Given the description of an element on the screen output the (x, y) to click on. 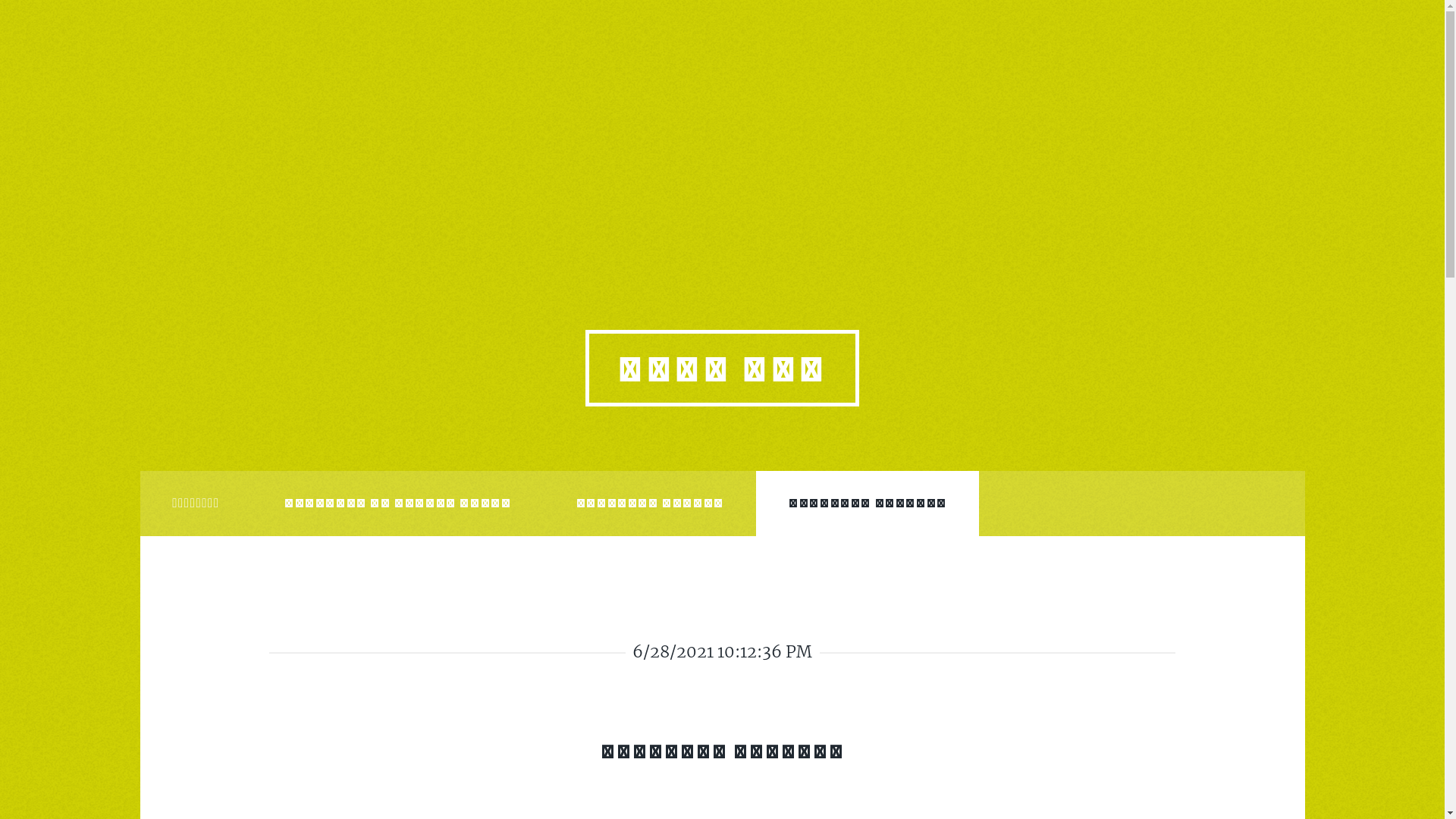
Advertisement Element type: hover (721, 106)
